Given the description of an element on the screen output the (x, y) to click on. 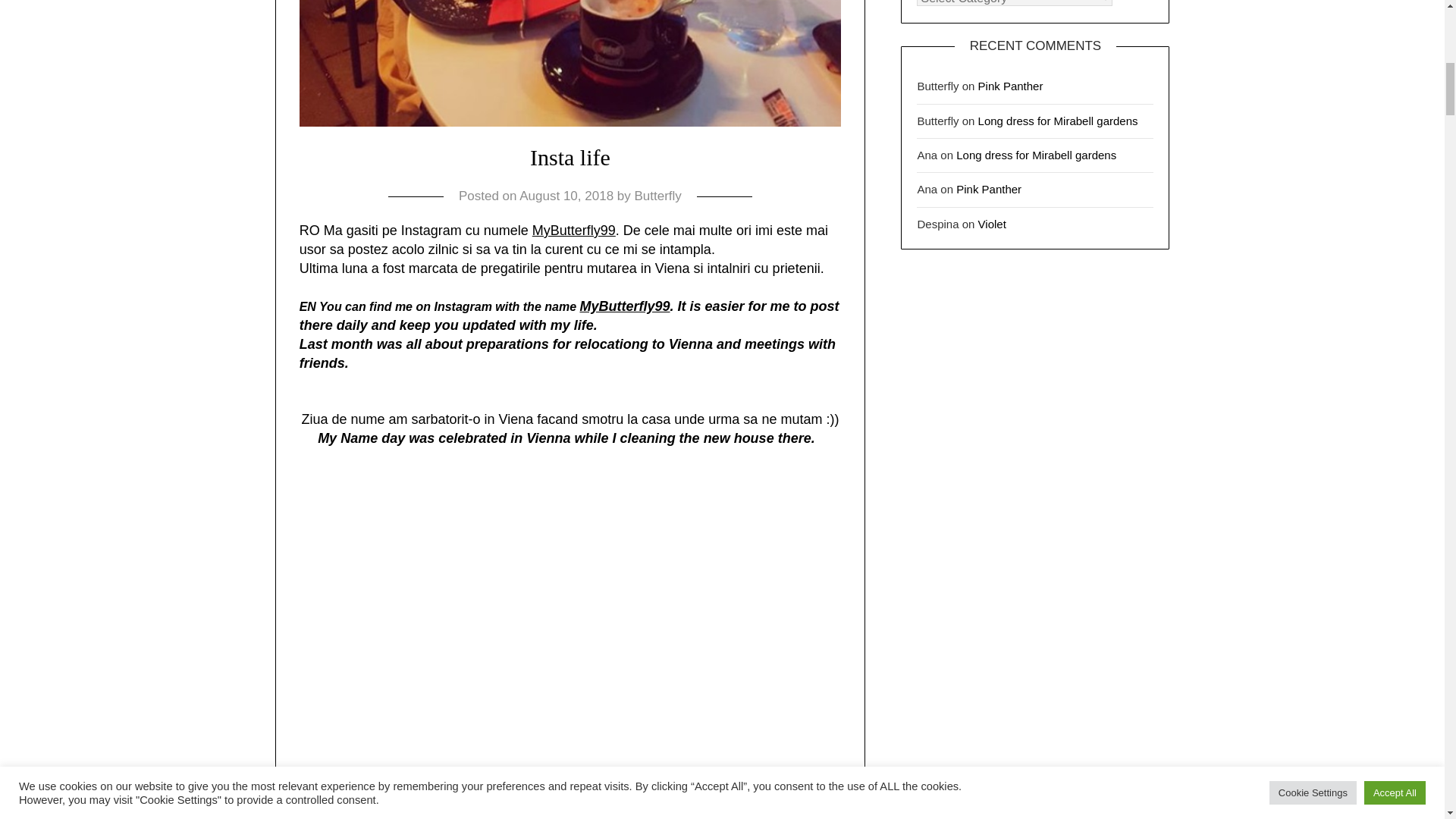
Butterfly (657, 195)
MyButterfly99 (573, 230)
MyButterfly99 (624, 305)
August 10, 2018 (565, 195)
